Given the description of an element on the screen output the (x, y) to click on. 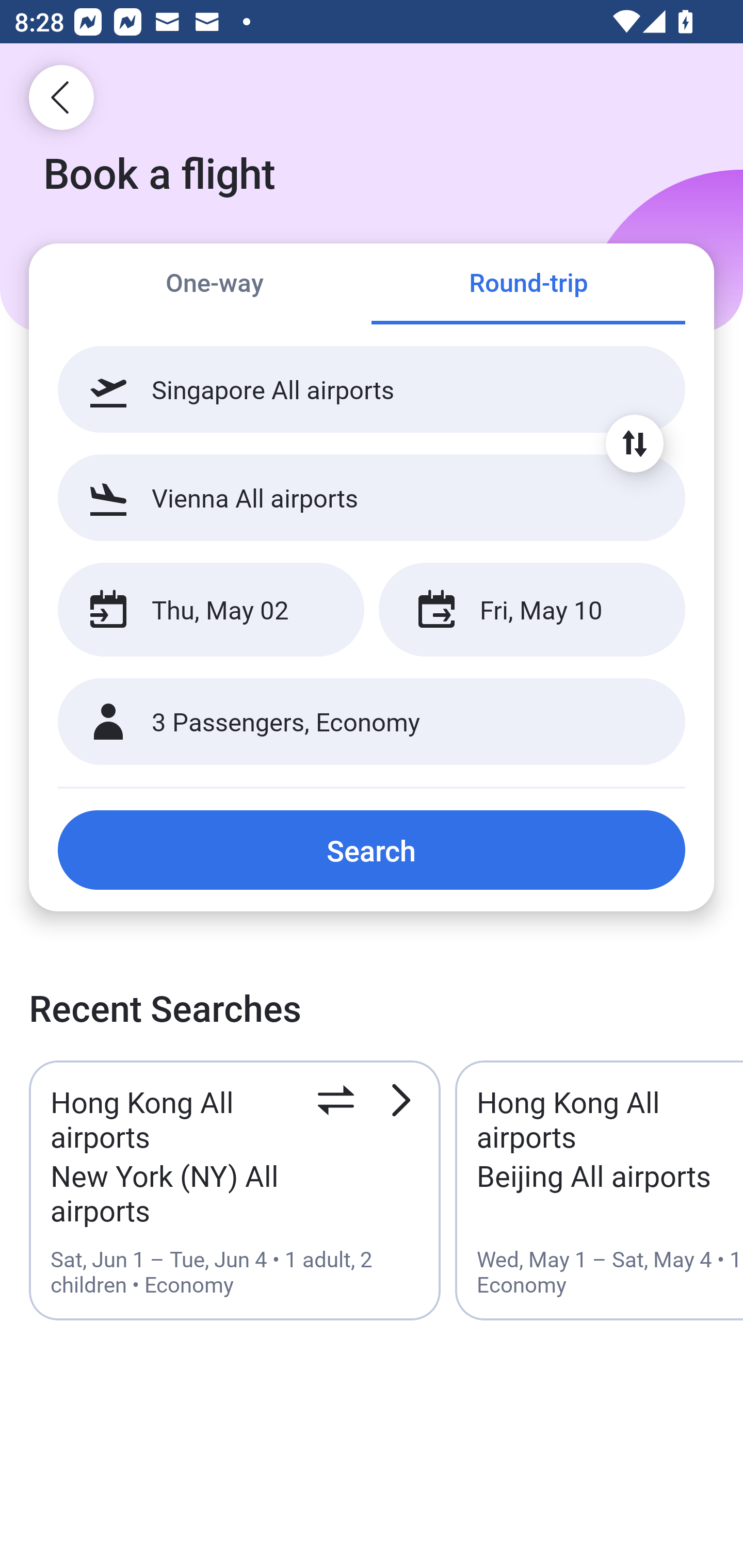
One-way (214, 284)
Singapore All airports (371, 389)
Vienna All airports (371, 497)
Thu, May 02 (210, 609)
Fri, May 10 (531, 609)
3 Passengers, Economy (371, 721)
Search (371, 849)
